Given the description of an element on the screen output the (x, y) to click on. 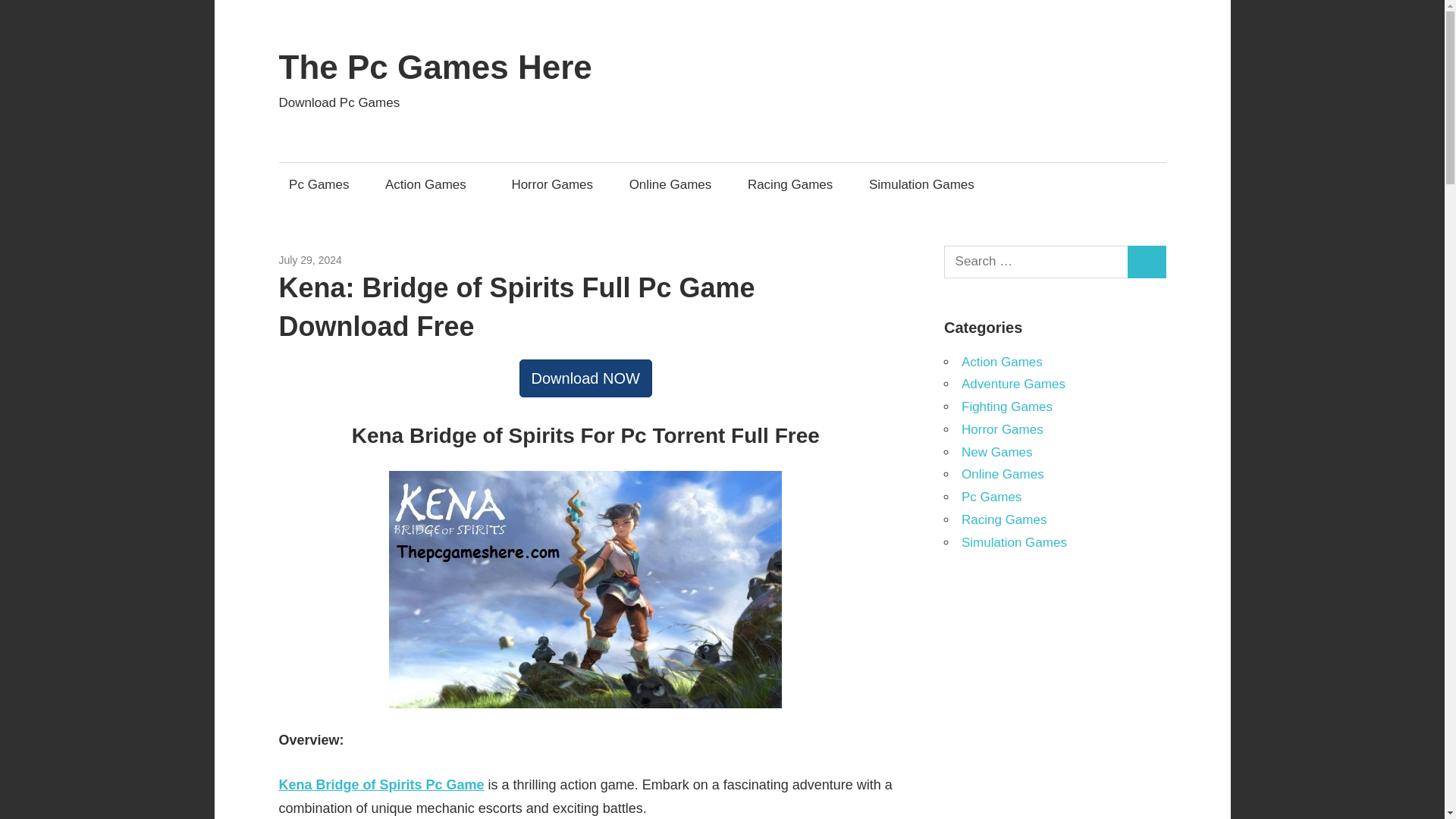
Search for: (1035, 261)
Online Games (1001, 473)
Adventure Games (1012, 383)
Racing Games (789, 184)
Action Games (1001, 361)
Download NOW (585, 378)
July 29, 2024 (310, 259)
New Games (996, 451)
Simulation Games (921, 184)
Pc Games (991, 496)
Action Games (429, 184)
Racing Games (1003, 519)
Fighting Games (1006, 406)
Horror Games (1001, 429)
Kena Bridge of Spirits Pc Game (381, 784)
